Given the description of an element on the screen output the (x, y) to click on. 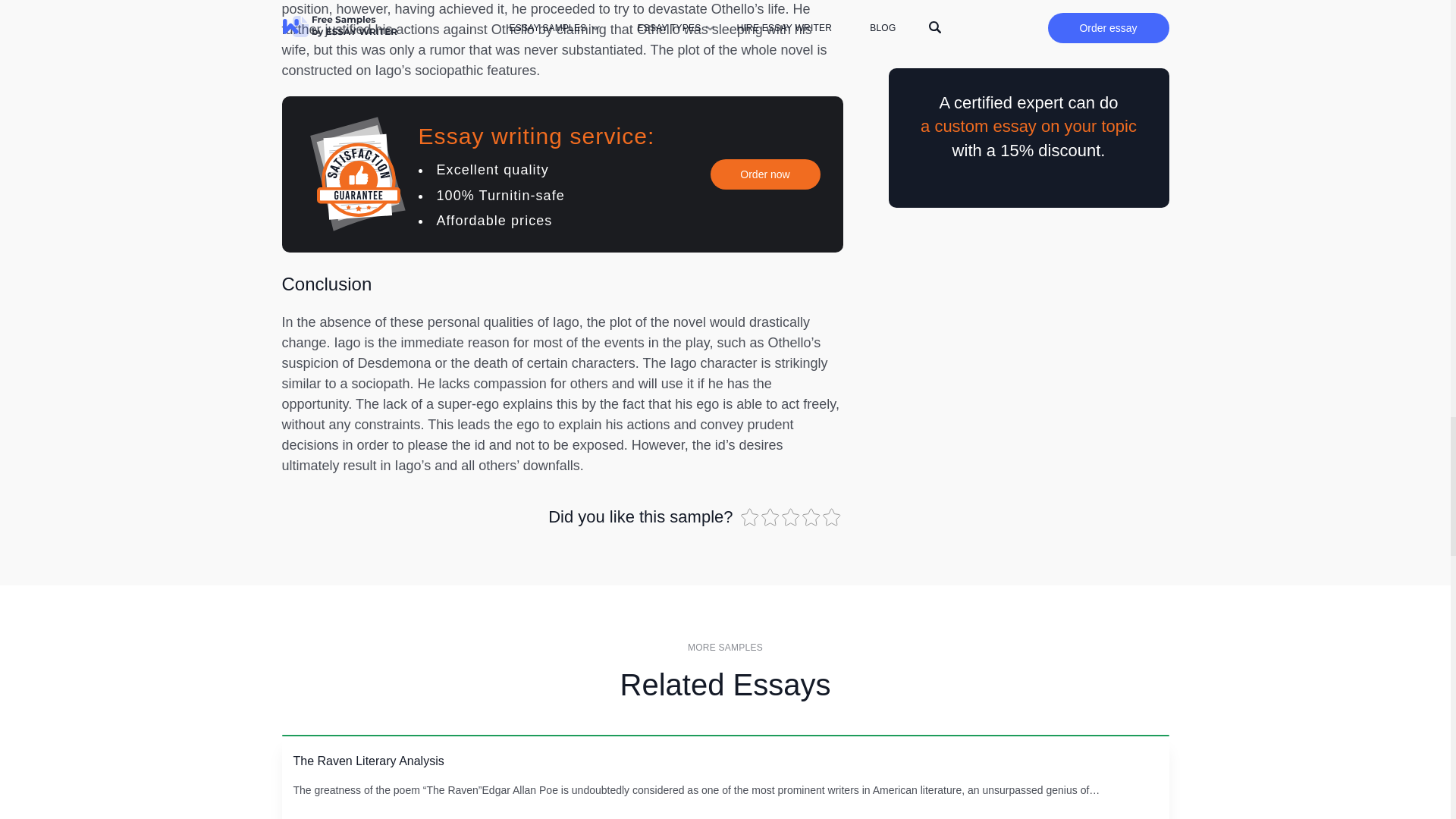
17 votes, average: 4,5 out of 5 (832, 516)
17 votes, average: 4,5 out of 5 (812, 516)
17 votes, average: 4,5 out of 5 (791, 516)
The Raven Literary Analysis (368, 760)
17 votes, average: 4,5 out of 5 (749, 516)
17 votes, average: 4,5 out of 5 (771, 516)
